Given the description of an element on the screen output the (x, y) to click on. 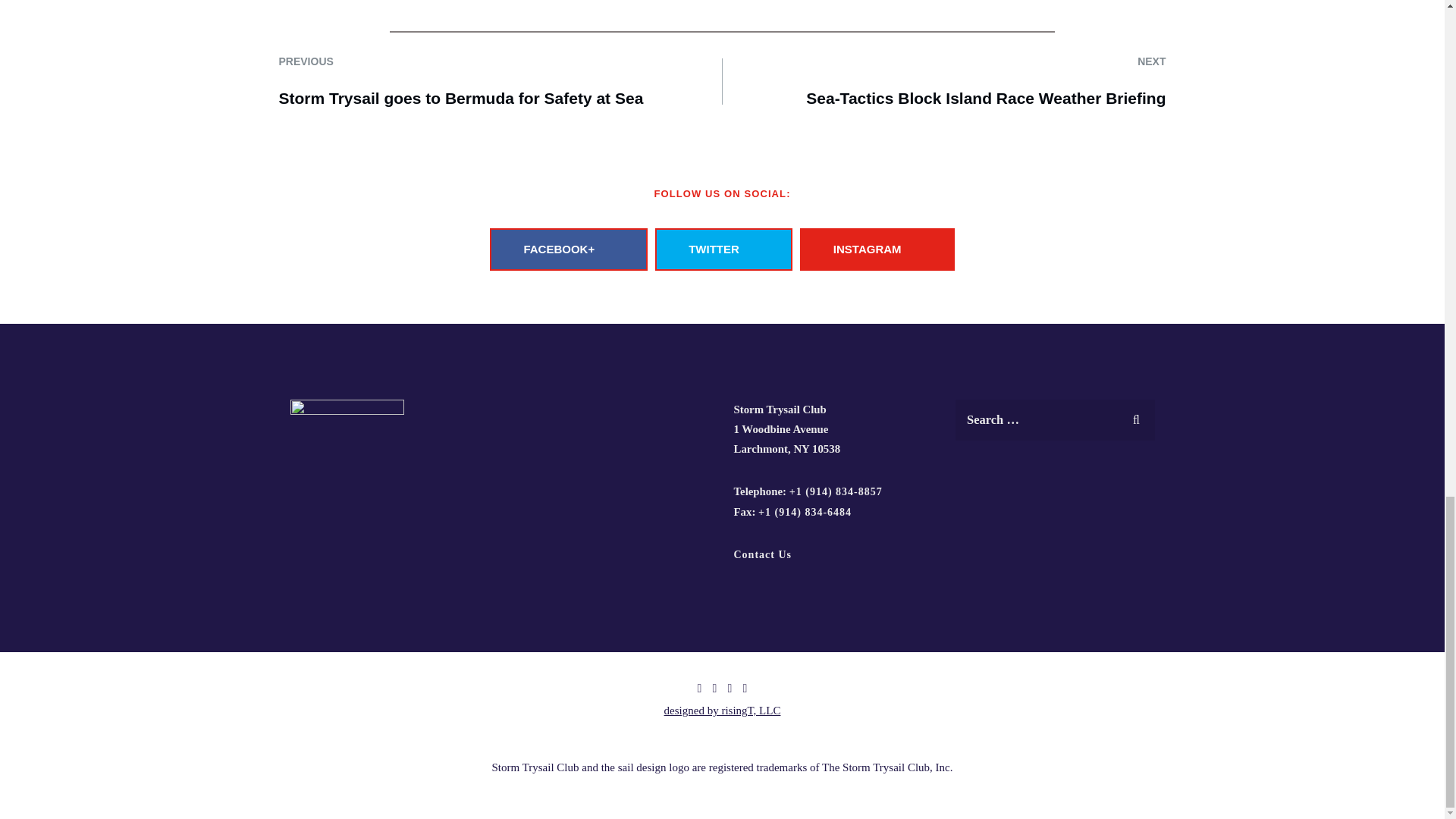
Search (1136, 417)
Search (1136, 417)
